Given the description of an element on the screen output the (x, y) to click on. 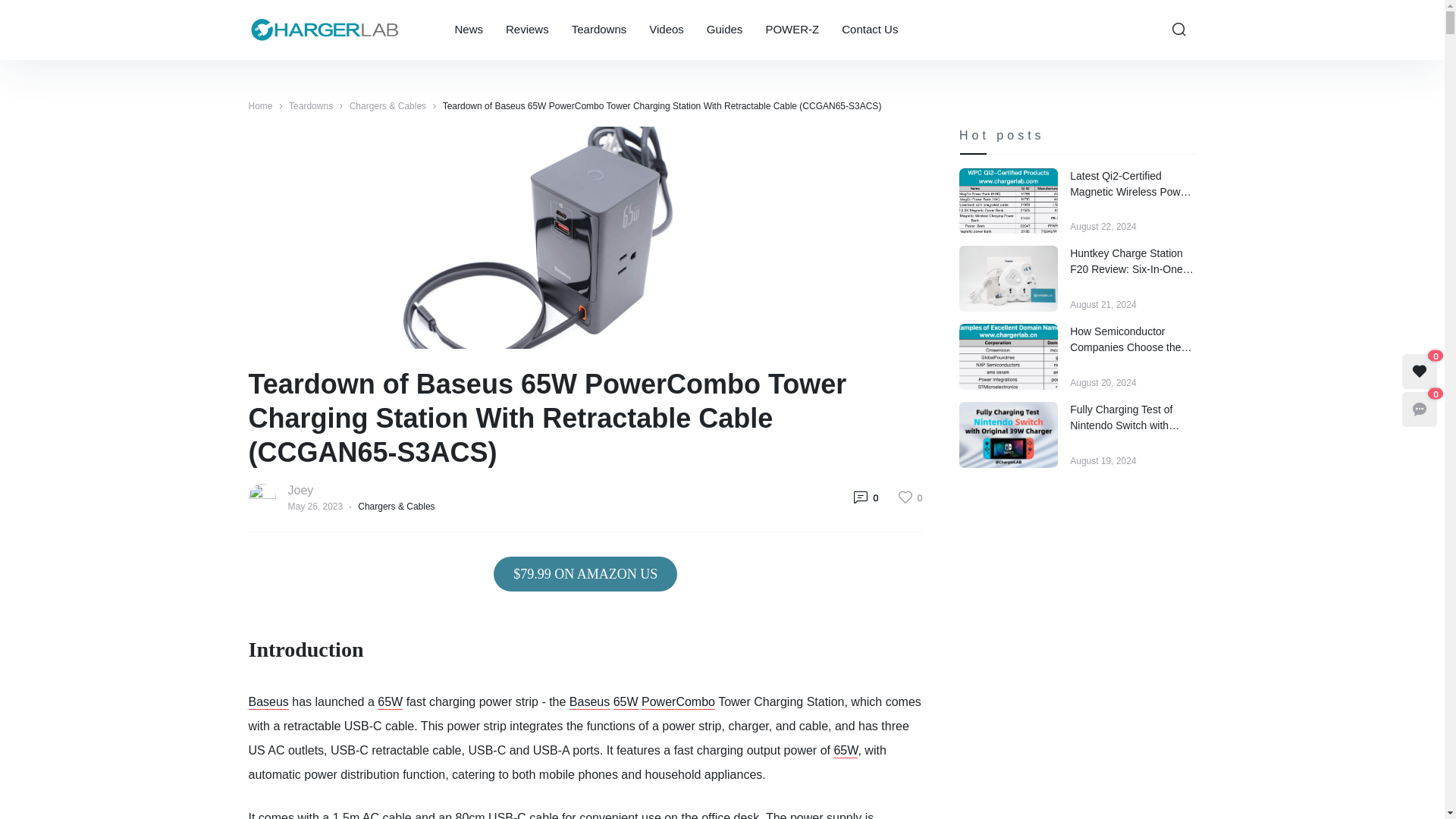
View all posts in PowerCombo (678, 702)
Teardowns (601, 29)
Home (260, 104)
Contact Us (786, 29)
View all posts in 65W (869, 29)
Videos (844, 750)
View all posts in Baseus (668, 29)
News (589, 702)
Teardowns (471, 29)
